Given the description of an element on the screen output the (x, y) to click on. 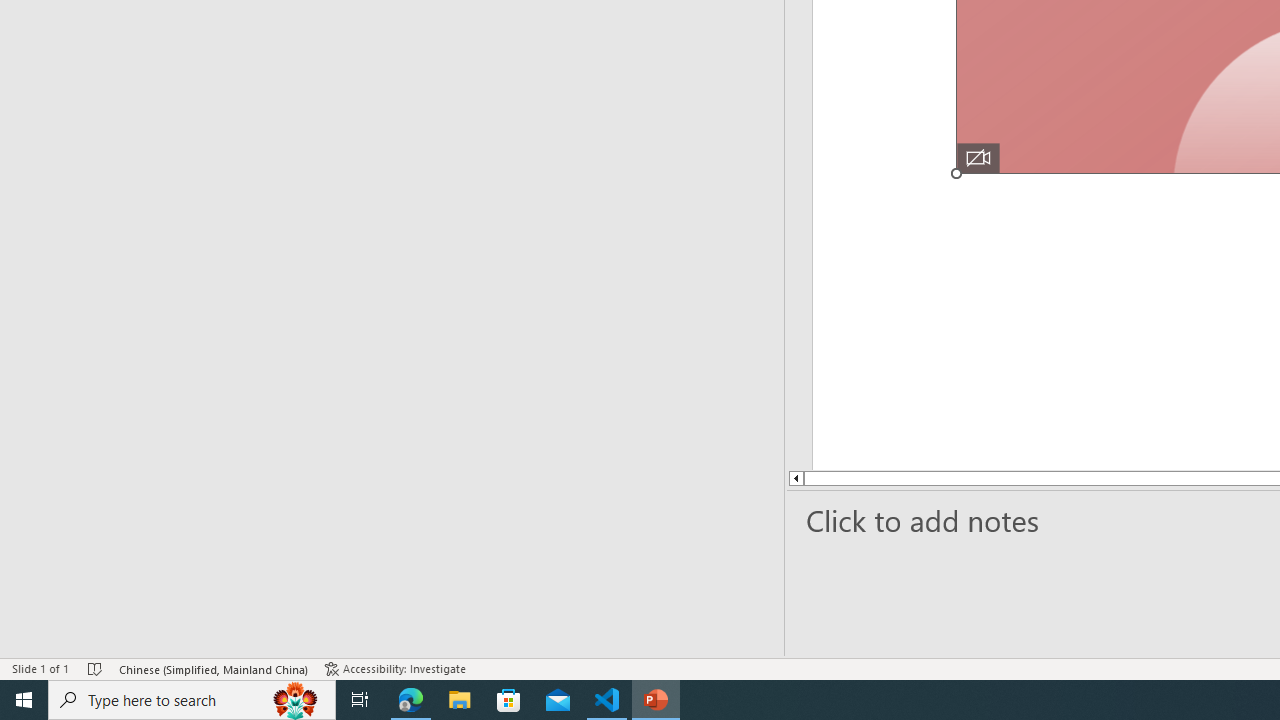
Page up (868, 478)
